Given the description of an element on the screen output the (x, y) to click on. 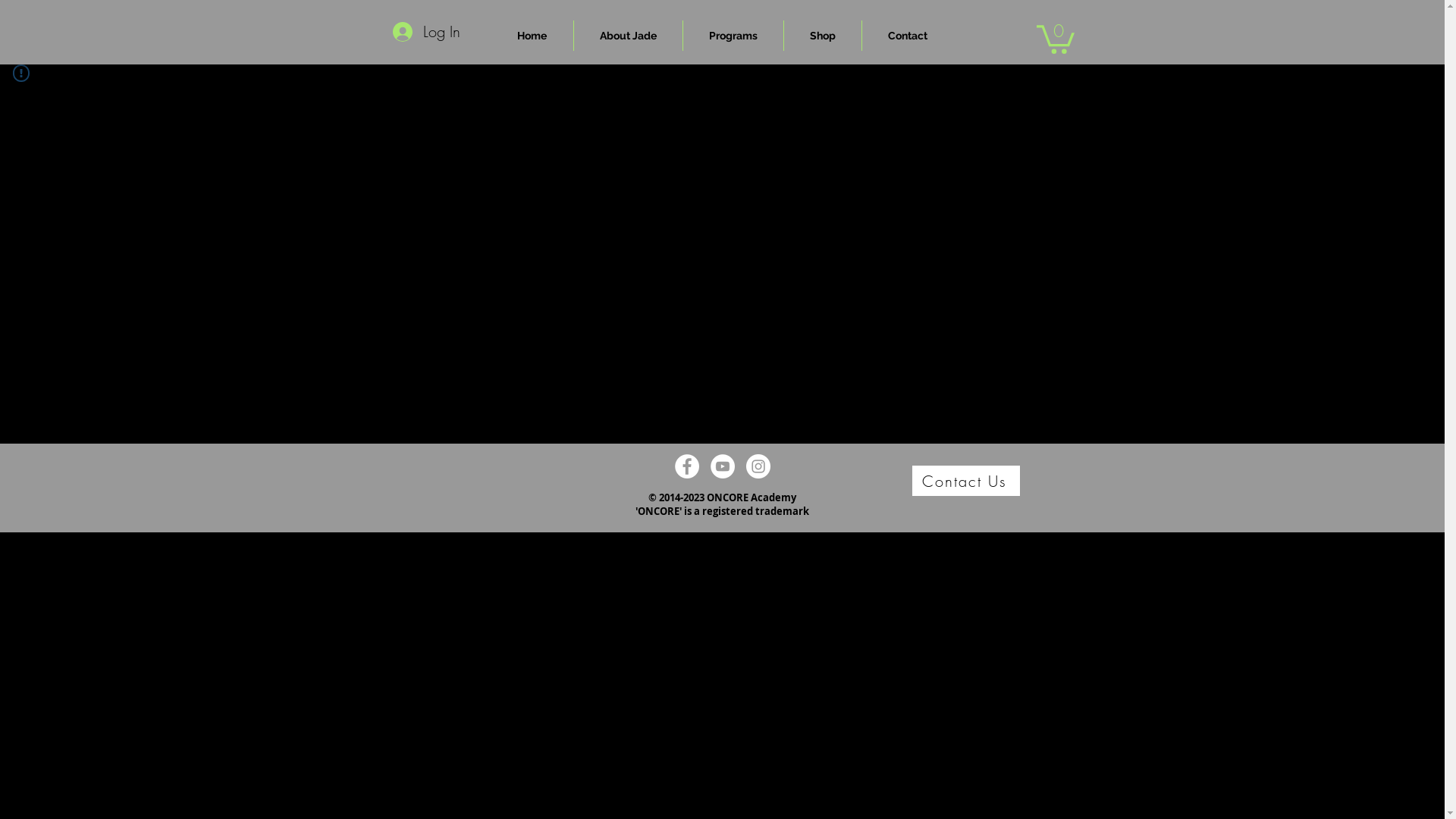
About Jade Element type: text (627, 35)
Shop Element type: text (822, 35)
Home Element type: text (532, 35)
Contact Element type: text (906, 35)
0 Element type: text (1054, 37)
Contact Us Element type: text (965, 480)
Log In Element type: text (426, 31)
